Given the description of an element on the screen output the (x, y) to click on. 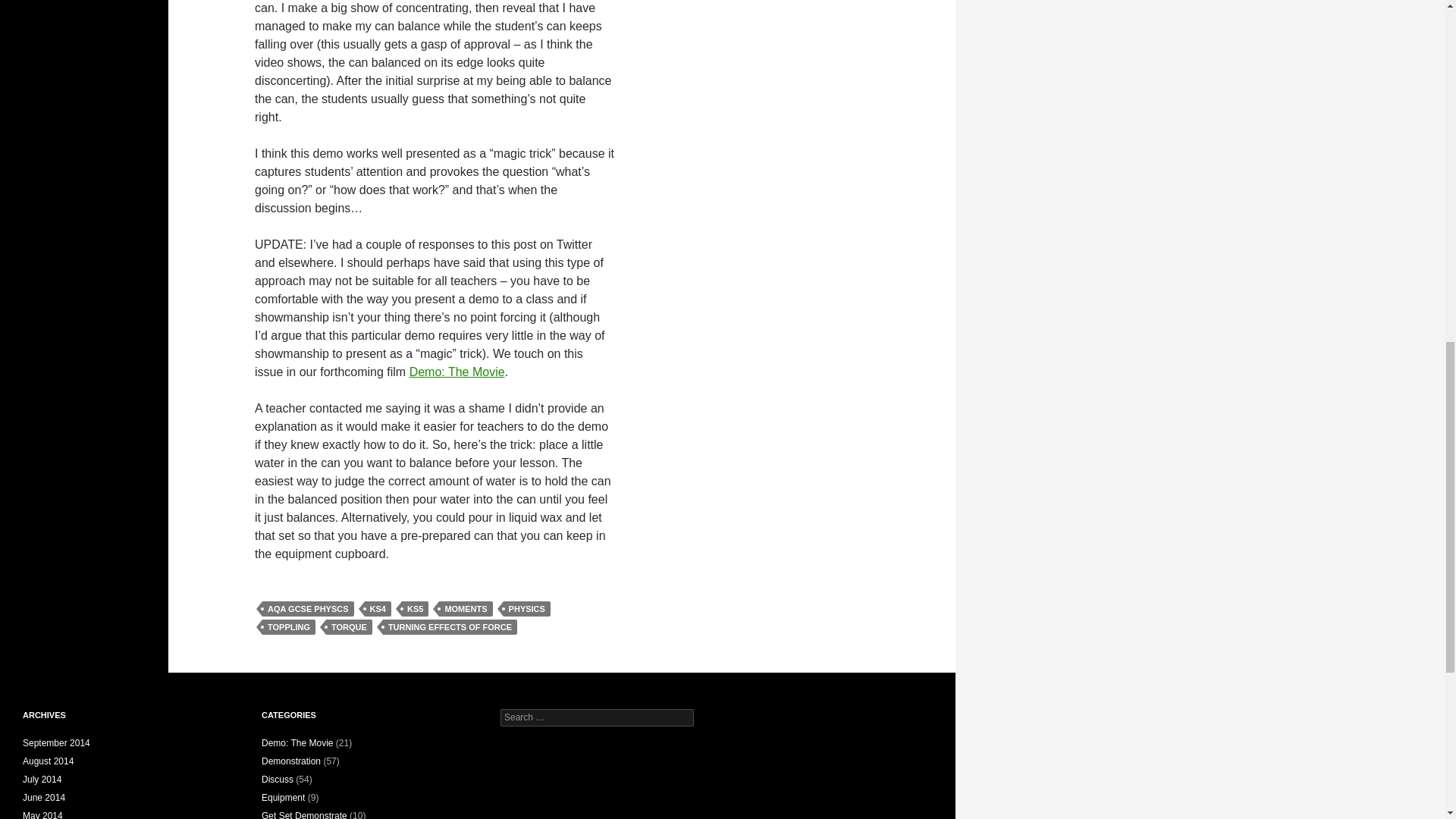
AQA GCSE PHYSCS (307, 608)
TOPPLING (288, 626)
MOMENTS (465, 608)
TURNING EFFECTS OF FORCE (449, 626)
KS4 (378, 608)
PHYSICS (526, 608)
TORQUE (349, 626)
KS5 (414, 608)
Demo: The Movie (457, 371)
